Given the description of an element on the screen output the (x, y) to click on. 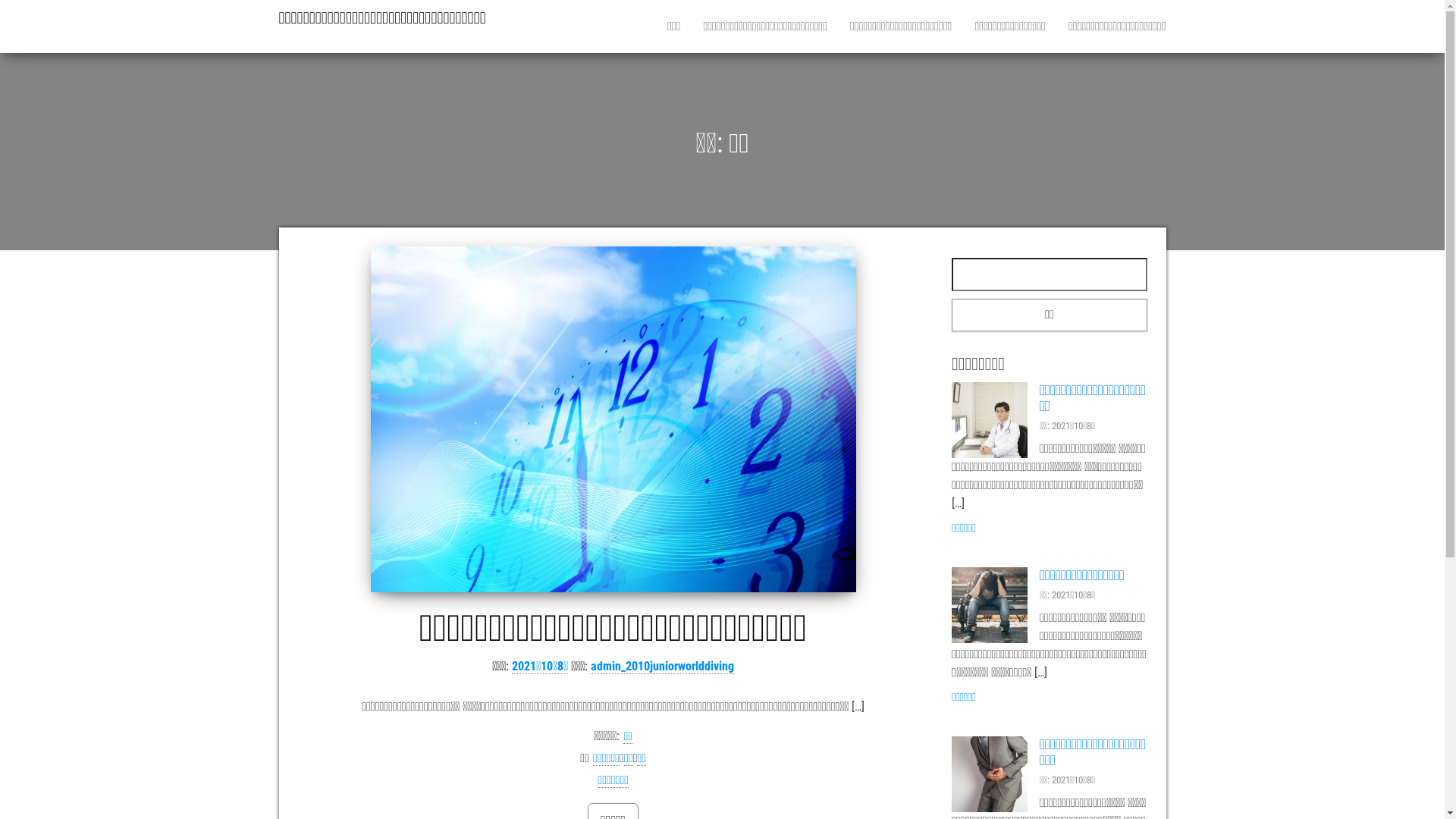
admin_2010juniorworlddiving Element type: text (662, 666)
